Given the description of an element on the screen output the (x, y) to click on. 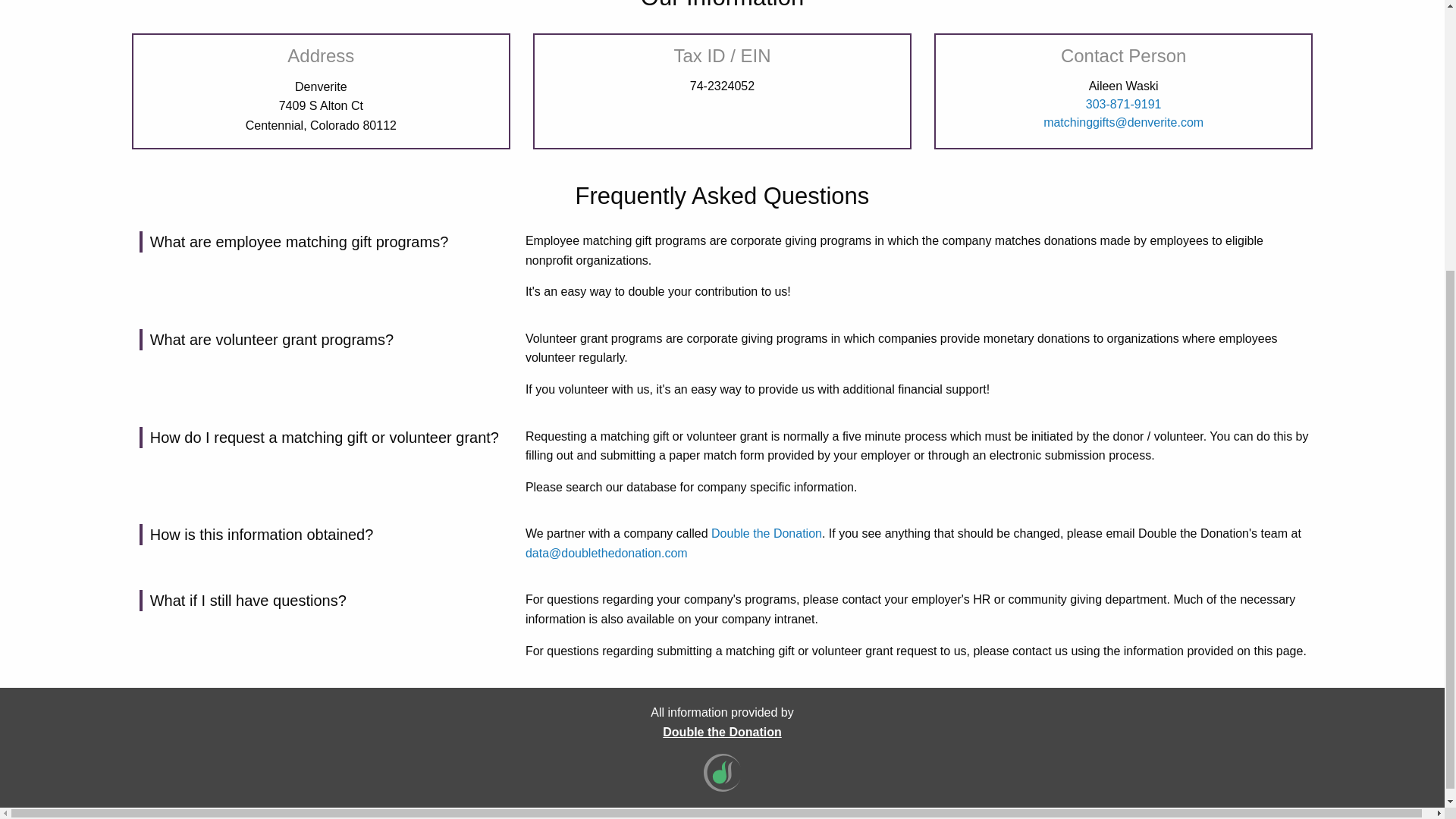
Double the Donation (721, 731)
303-871-9191 (1123, 103)
Double the Donation (766, 533)
